Given the description of an element on the screen output the (x, y) to click on. 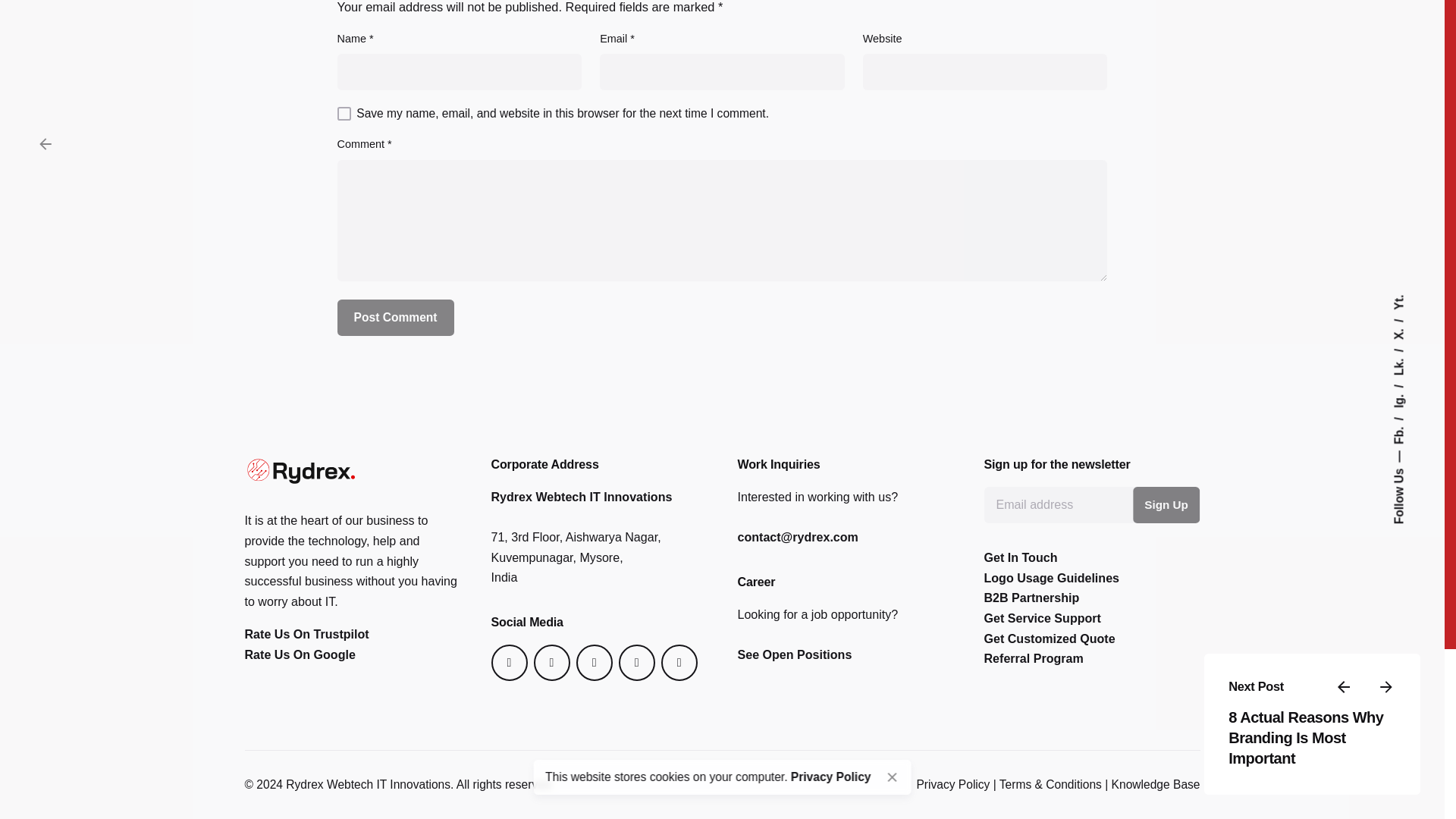
Sign Up (1165, 504)
Post Comment (395, 317)
yes (343, 113)
